Given the description of an element on the screen output the (x, y) to click on. 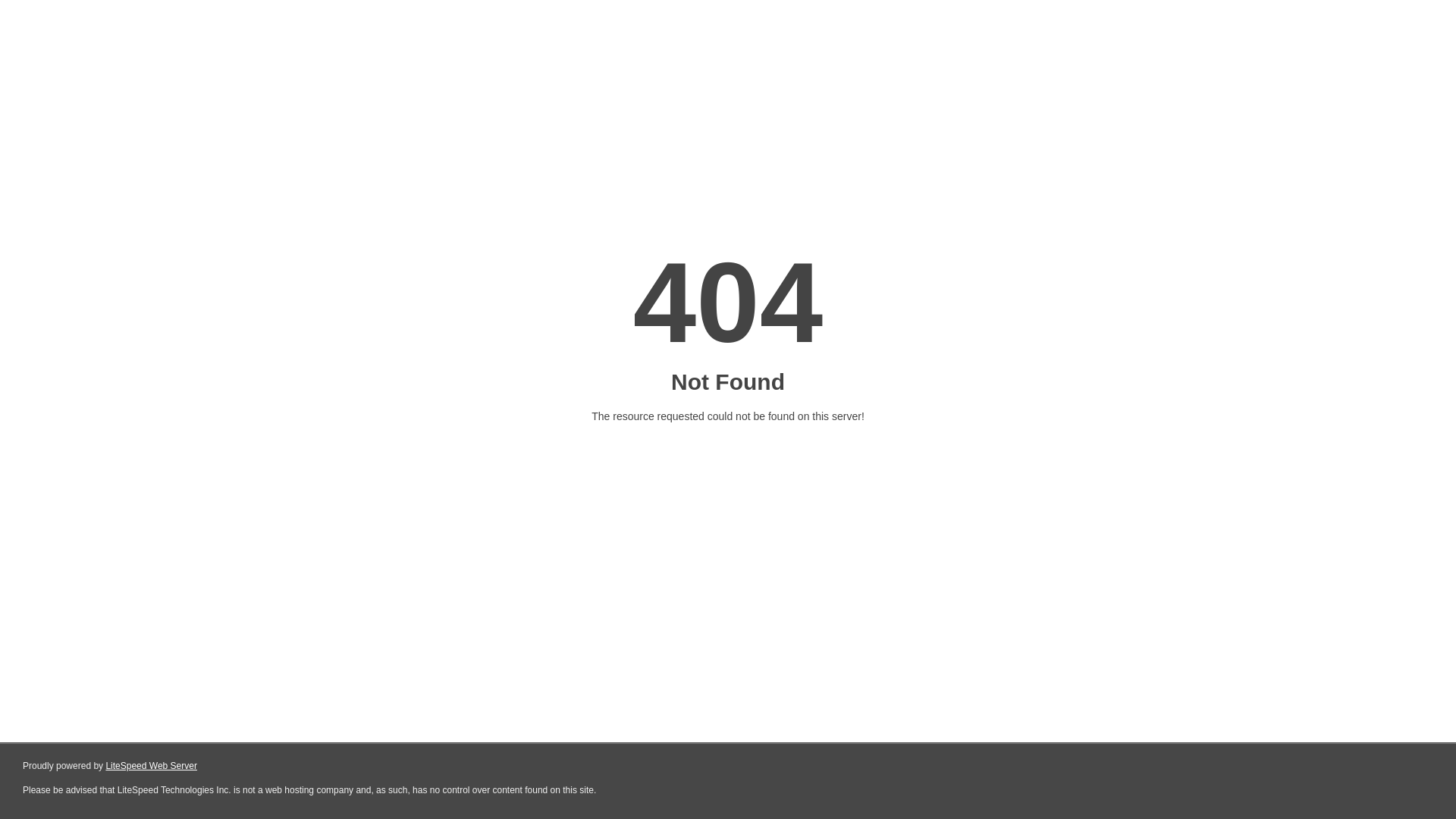
LiteSpeed Web Server Element type: text (151, 765)
